Given the description of an element on the screen output the (x, y) to click on. 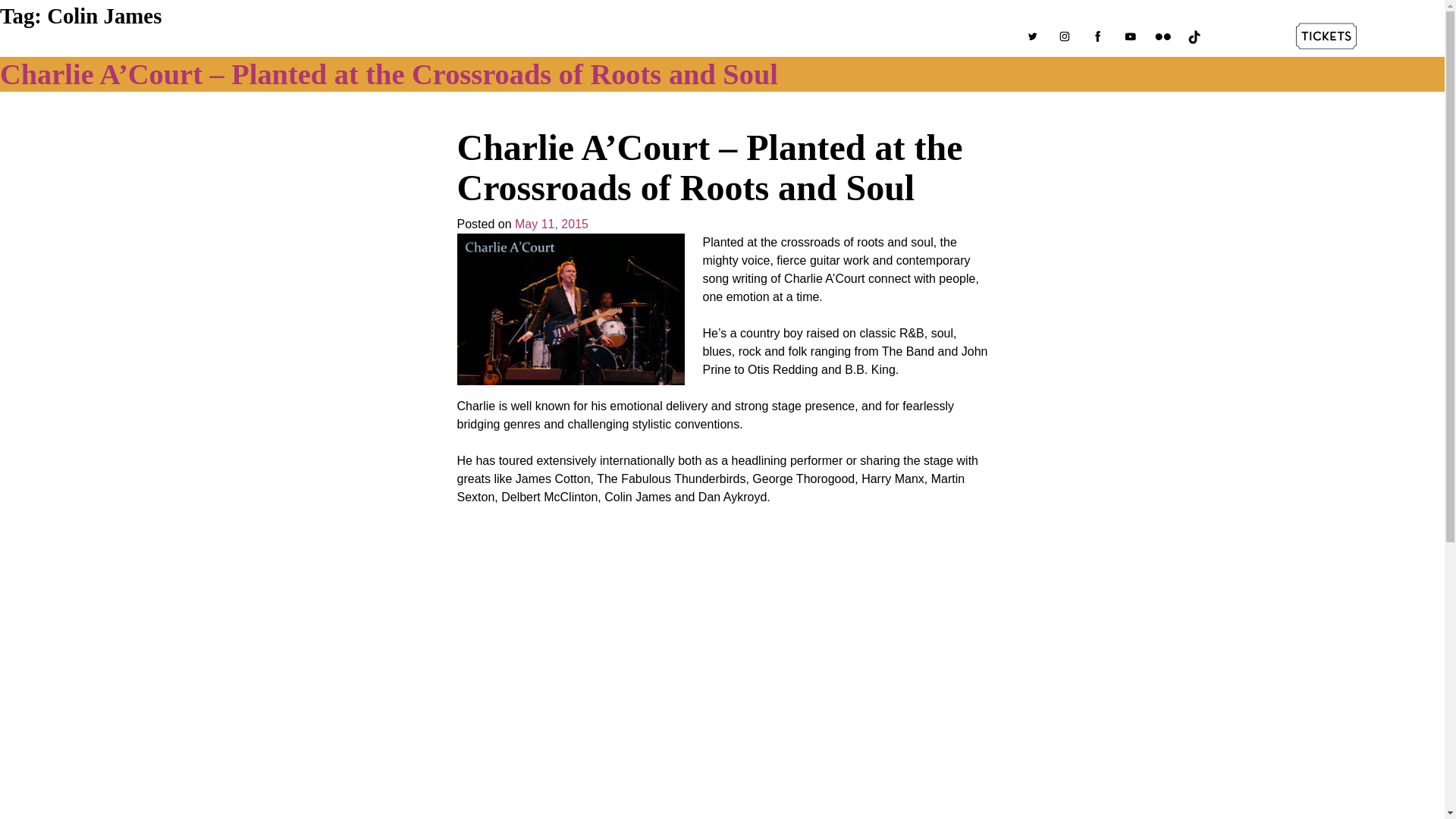
Lineup (460, 38)
What Goes On (543, 38)
Our Stories (717, 38)
Event Info (635, 38)
Charlie A'Court - Sun is Gonna Shine (699, 660)
Mariposa Folk Festival (301, 64)
